Given the description of an element on the screen output the (x, y) to click on. 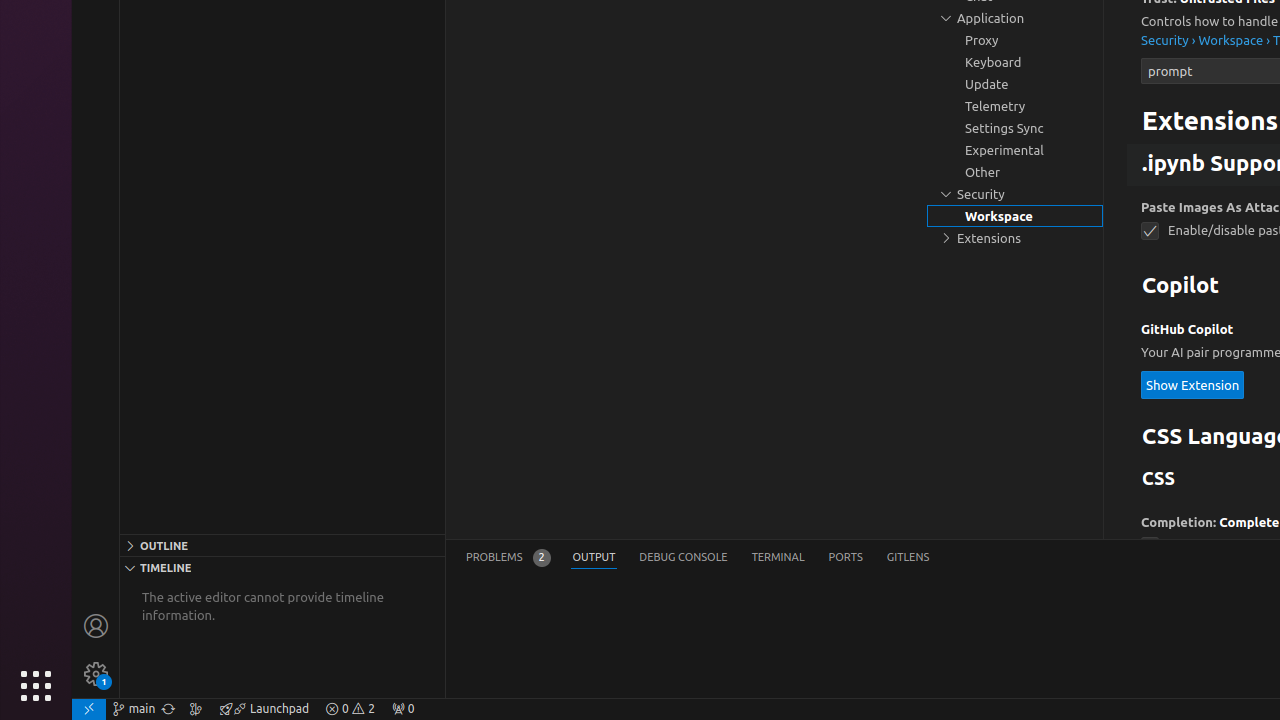
Debug Console (Ctrl+Shift+Y) Element type: page-tab (683, 557)
Application, group Element type: tree-item (1015, 18)
Terminal (Ctrl+`) Element type: page-tab (778, 557)
OSWorld (Git) - main, Checkout Branch/Tag... Element type: push-button (134, 709)
